Given the description of an element on the screen output the (x, y) to click on. 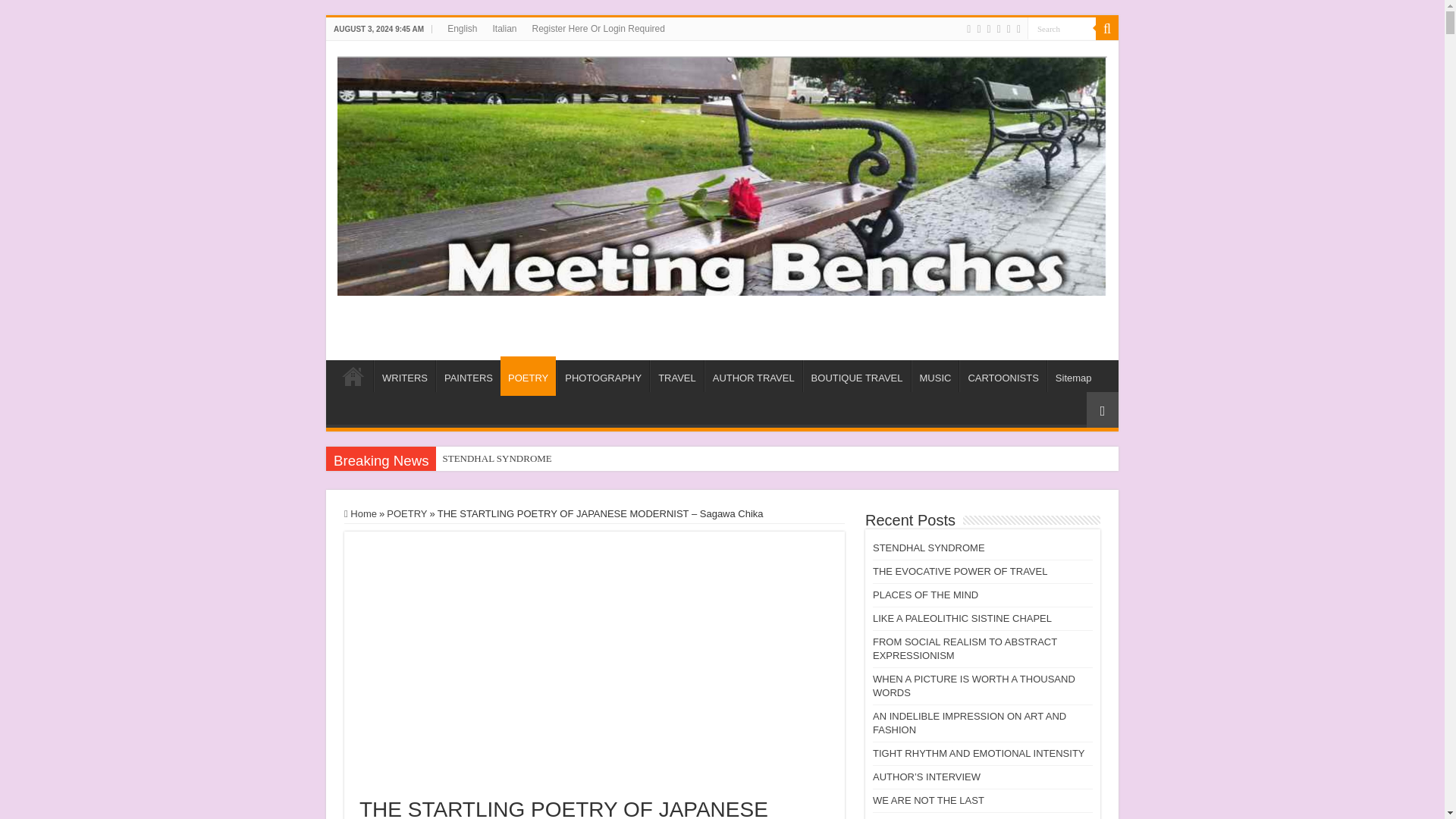
Search (1061, 28)
Search (1061, 28)
POETRY (528, 375)
MUSIC (935, 376)
Search (1061, 28)
PAINTERS (467, 376)
BOUTIQUE TRAVEL (857, 376)
Search (1107, 28)
STENDHAL SYNDROME (571, 458)
Home (352, 376)
Italian (504, 28)
TRAVEL (676, 376)
AUTHOR TRAVEL (753, 376)
Register Here Or Login Required (598, 28)
English (461, 28)
